Given the description of an element on the screen output the (x, y) to click on. 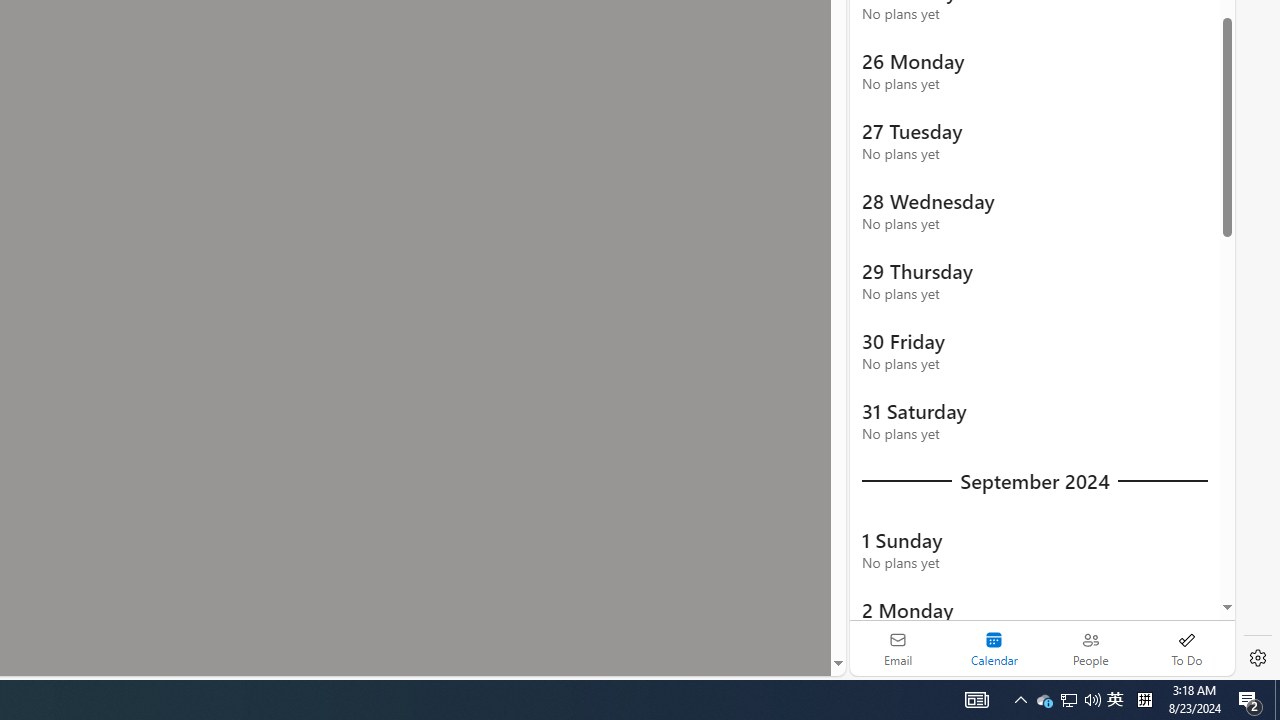
People (1090, 648)
Selected calendar module. Date today is 22 (994, 648)
To Do (1186, 648)
Email (898, 648)
